Given the description of an element on the screen output the (x, y) to click on. 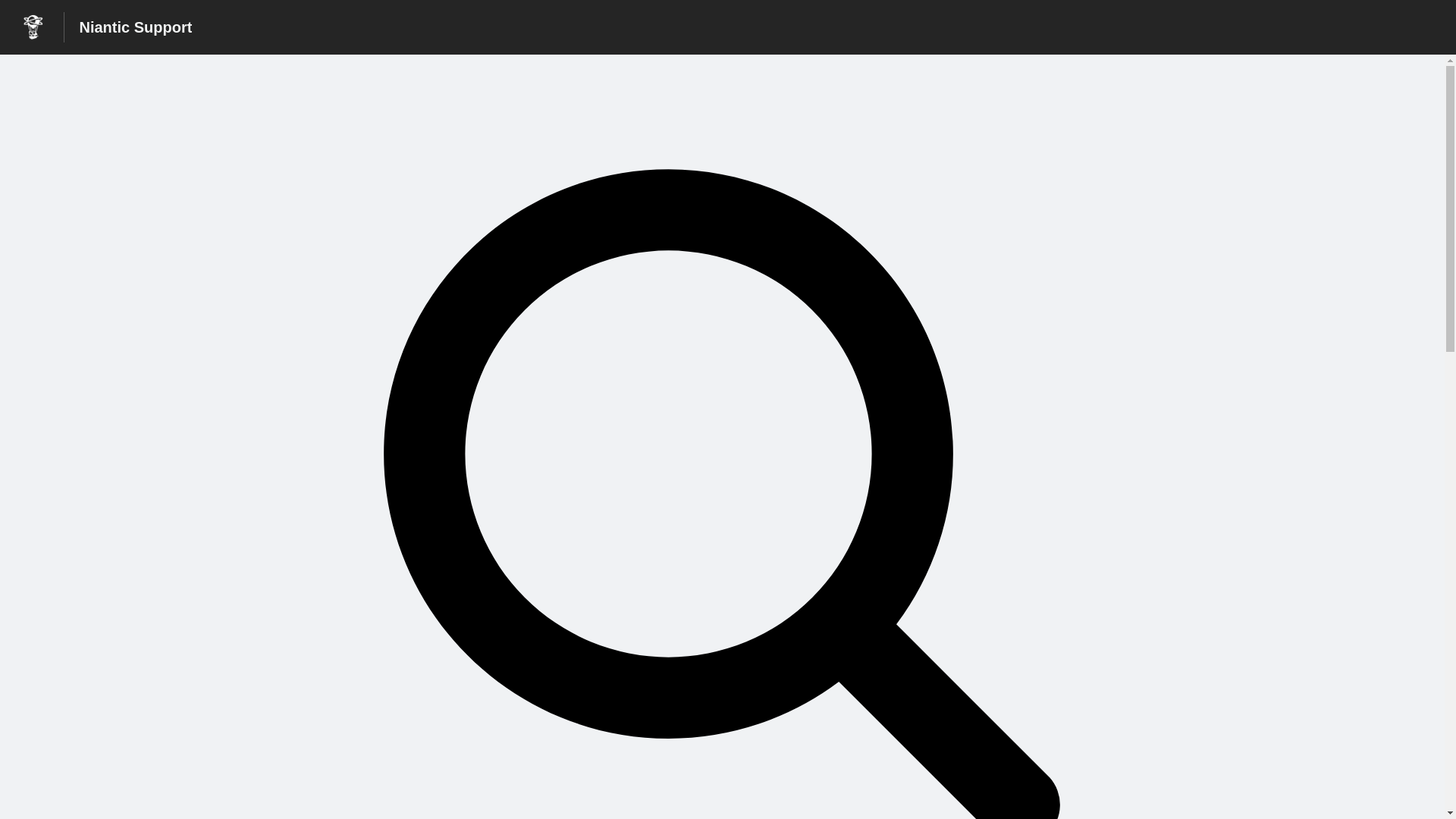
Niantic Support (135, 27)
